Given the description of an element on the screen output the (x, y) to click on. 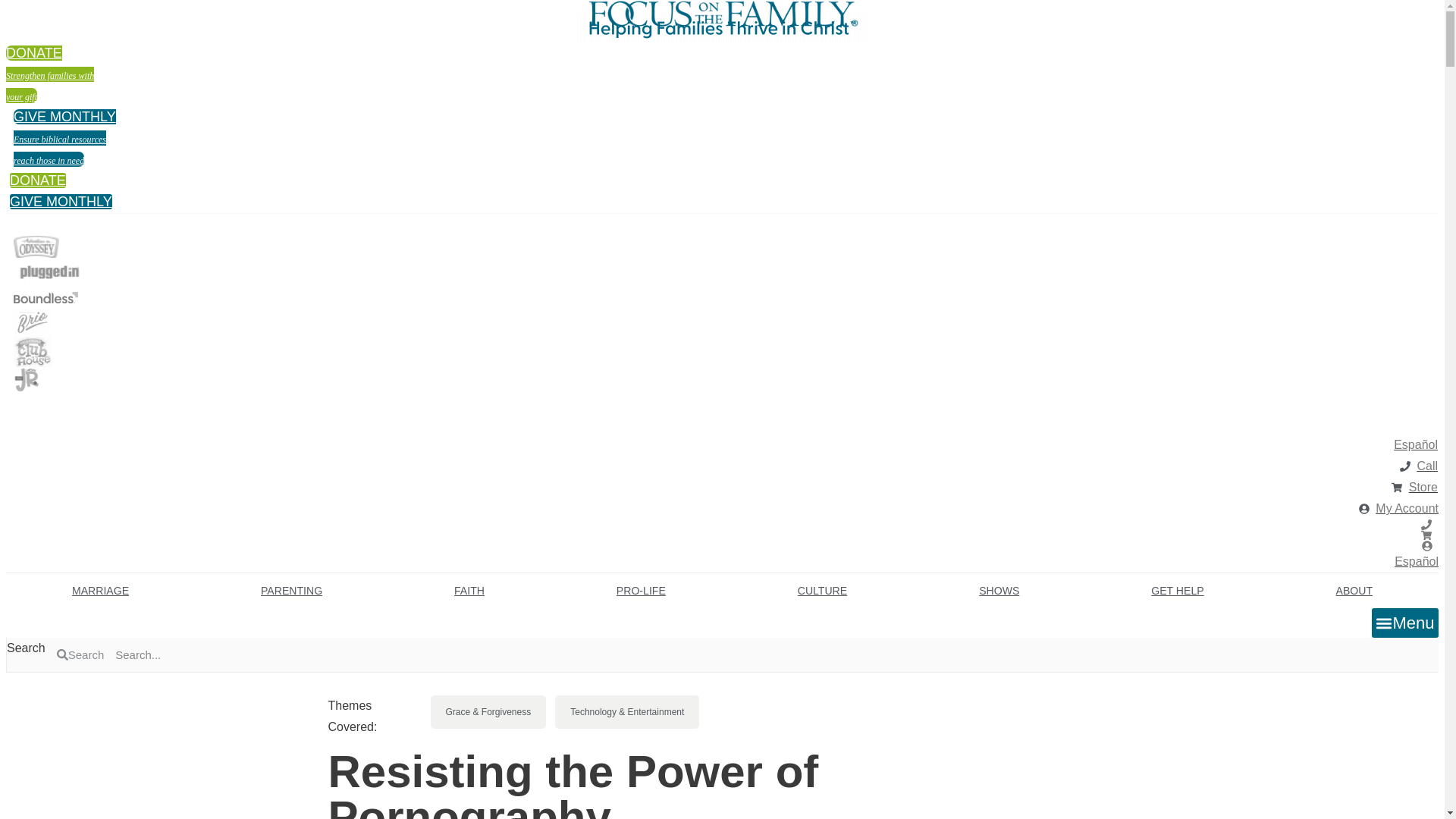
PARENTING (291, 590)
Helping Families Thrive in Christ (721, 28)
DONATE (37, 180)
Boundless (22, 424)
Focus on the Family Clubhouse Jr. (26, 379)
Plugged In (49, 271)
Brio (31, 321)
PRO-LIFE (641, 590)
Focus on the Family Clubhouse (31, 351)
MARRIAGE (64, 137)
Adventures in Odyssey (100, 590)
FAITH (36, 246)
GIVE MONTHLY (469, 590)
